Given the description of an element on the screen output the (x, y) to click on. 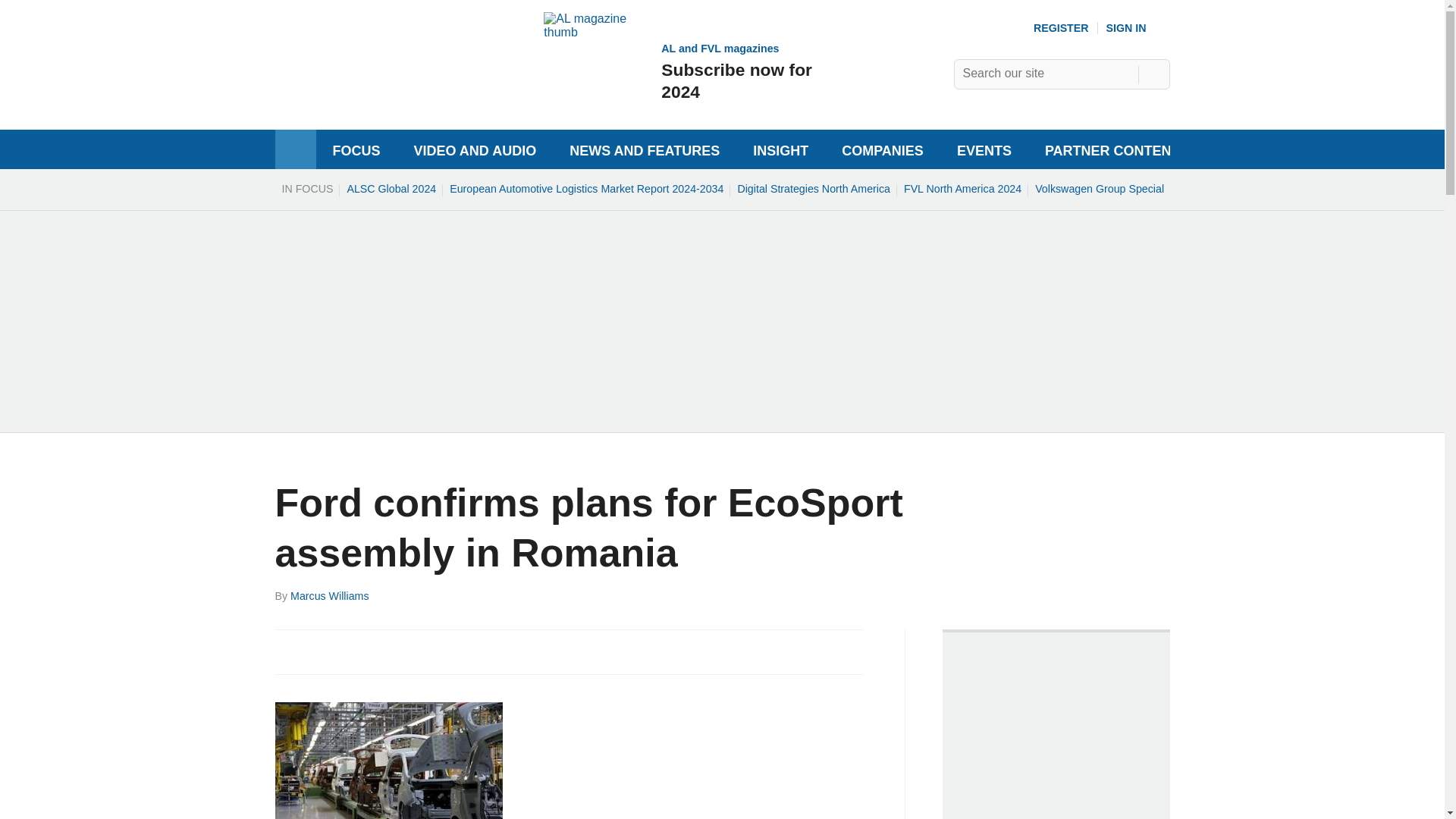
FVL North America 2024 (961, 188)
Share this on Twitter (320, 651)
Share this on Linked in (352, 651)
Share this on Facebook (288, 651)
SEARCH (1153, 74)
SIGN IN (679, 70)
Volkswagen Group Special (1138, 28)
ALSC Global 2024 (1098, 188)
Email this article (390, 188)
